Given the description of an element on the screen output the (x, y) to click on. 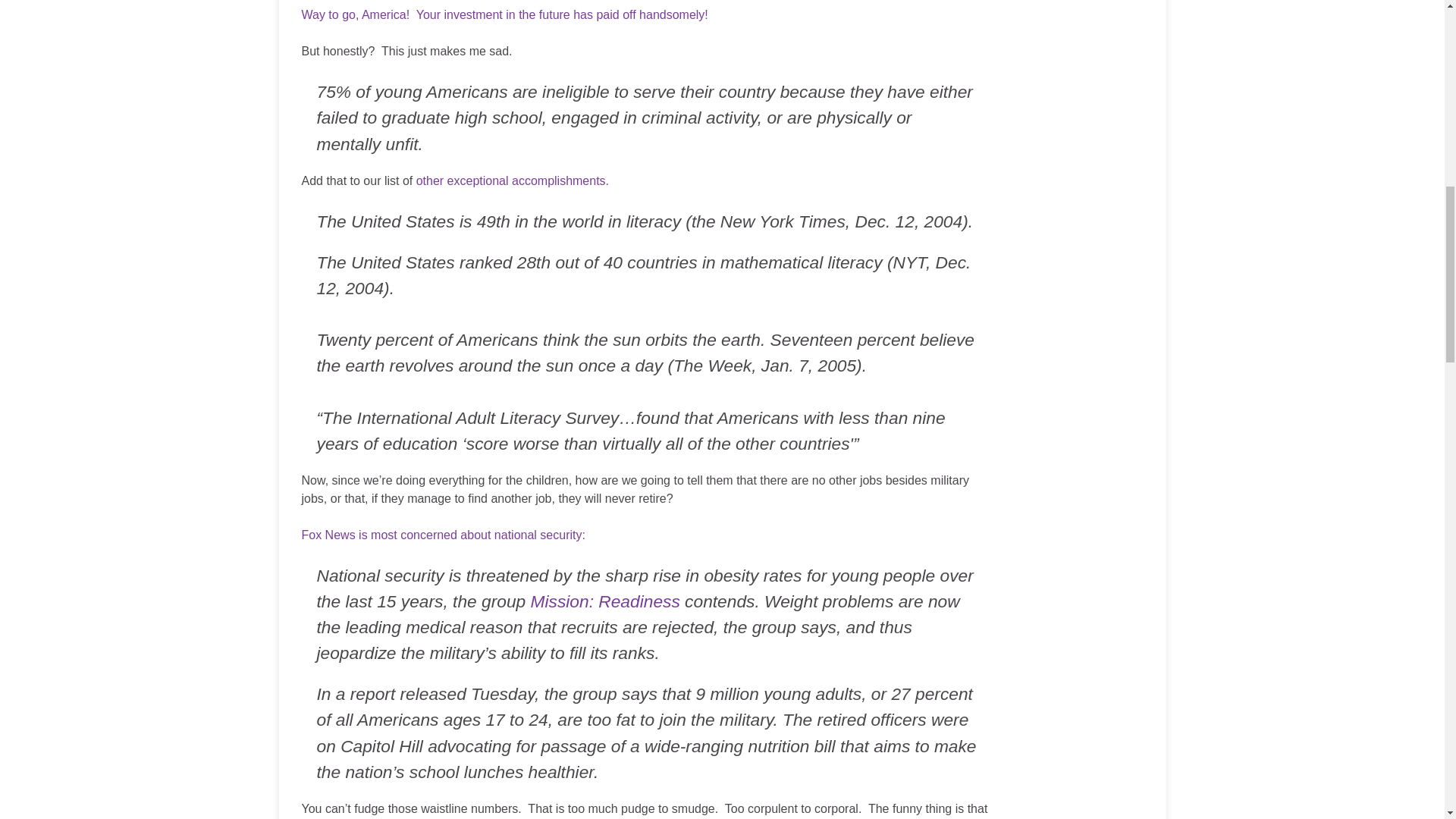
other exceptional accomplishments. (512, 180)
Mission: Readiness (605, 600)
Fox News is most concerned about national security: (443, 534)
